Given the description of an element on the screen output the (x, y) to click on. 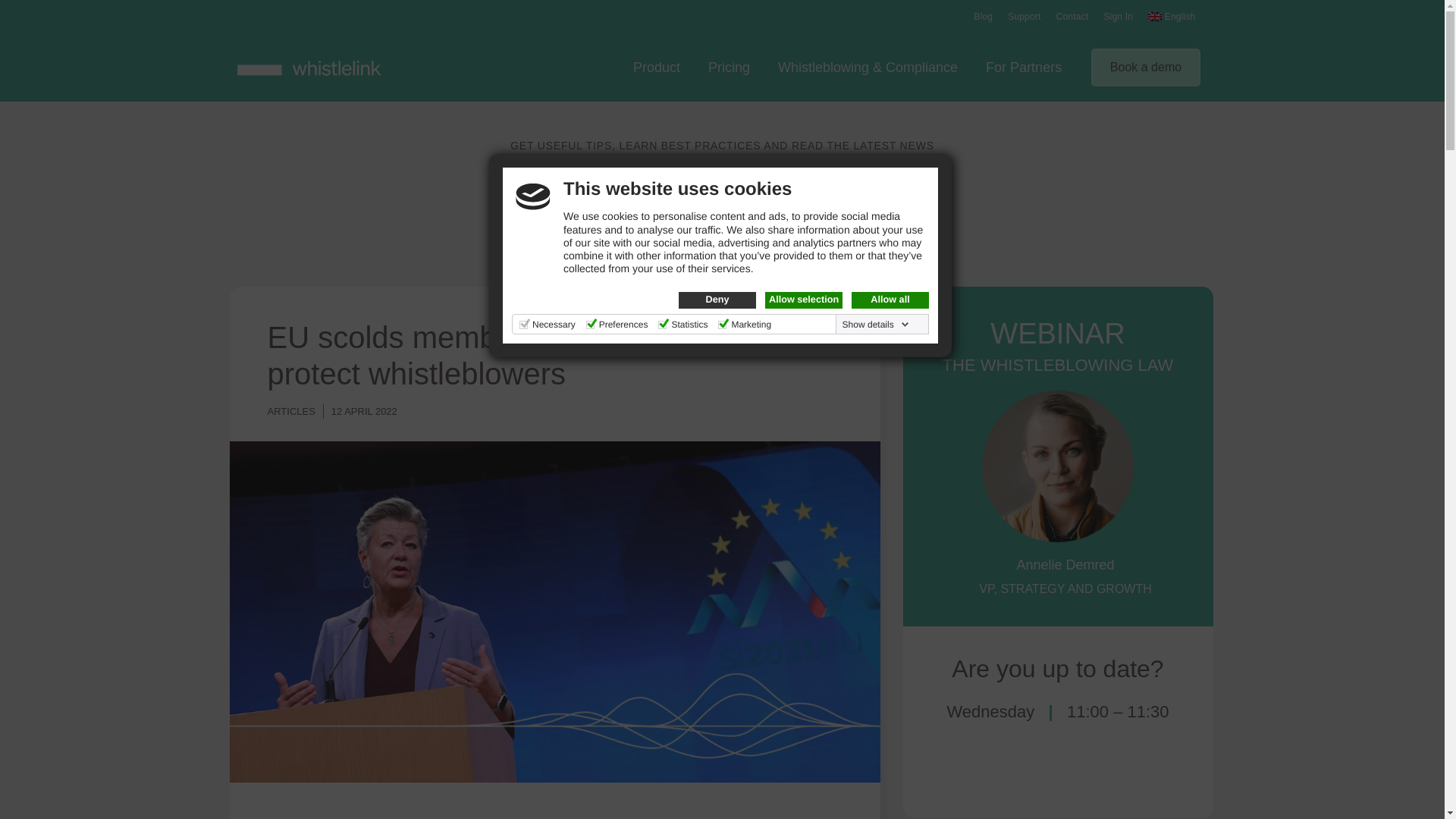
Deny (716, 299)
Allow all (889, 299)
Show details (876, 324)
Allow selection (804, 299)
